Given the description of an element on the screen output the (x, y) to click on. 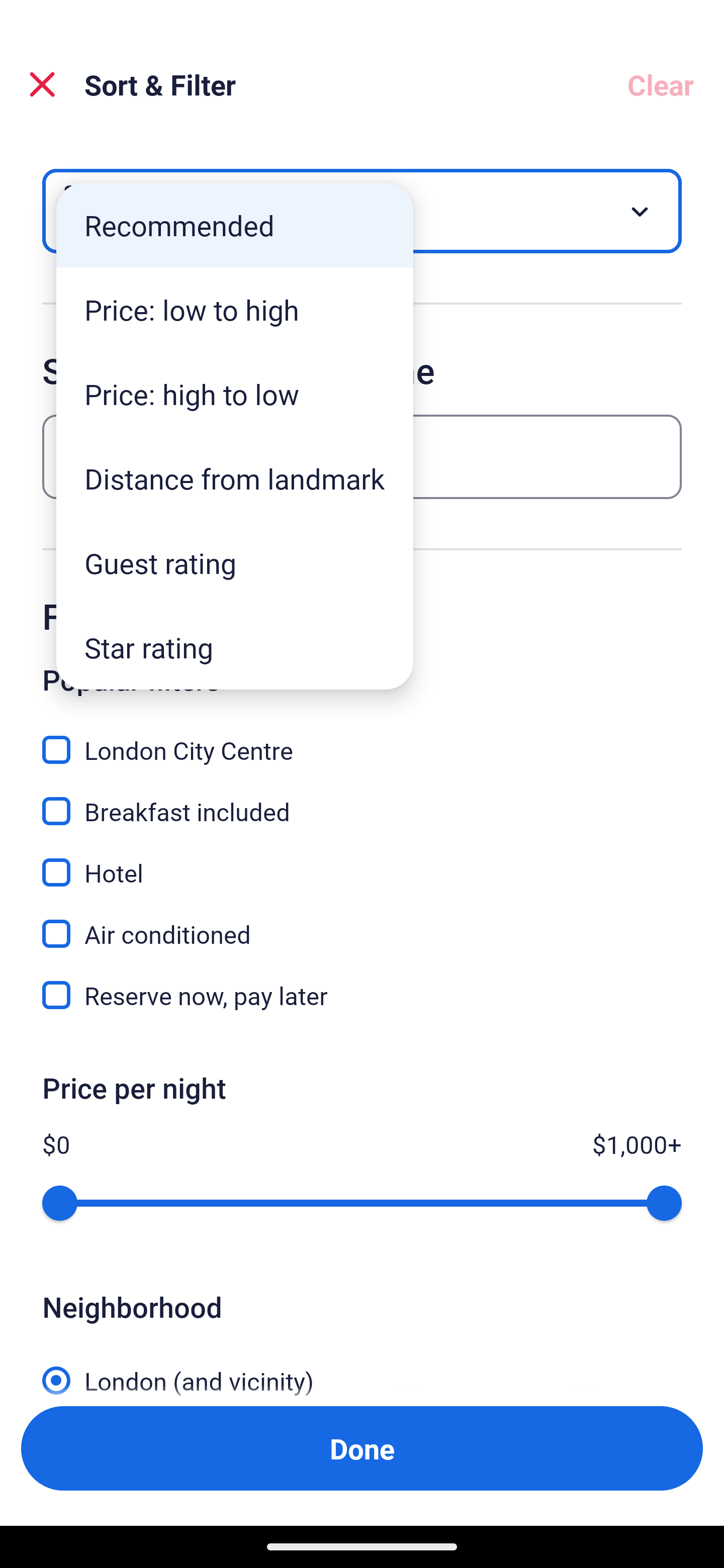
Price: low to high (234, 309)
Price: high to low (234, 393)
Distance from landmark (234, 477)
Guest rating (234, 562)
Star rating (234, 647)
